Given the description of an element on the screen output the (x, y) to click on. 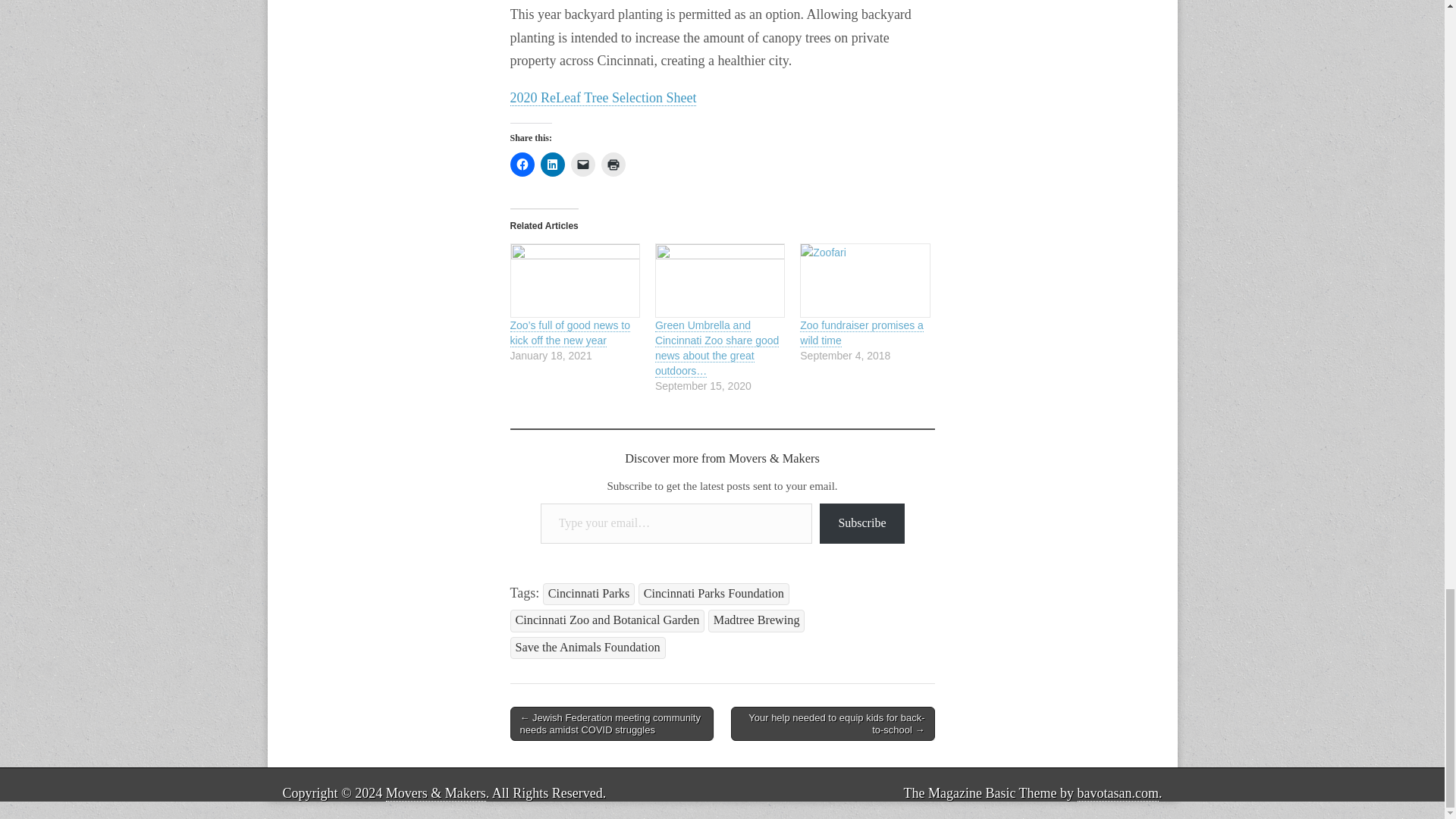
Click to share on LinkedIn (552, 164)
Zoo fundraiser promises a wild time (861, 333)
Zoo fundraiser promises a wild time (864, 280)
Click to share on Facebook (521, 164)
Click to email a link to a friend (582, 164)
Click to print (611, 164)
